Given the description of an element on the screen output the (x, y) to click on. 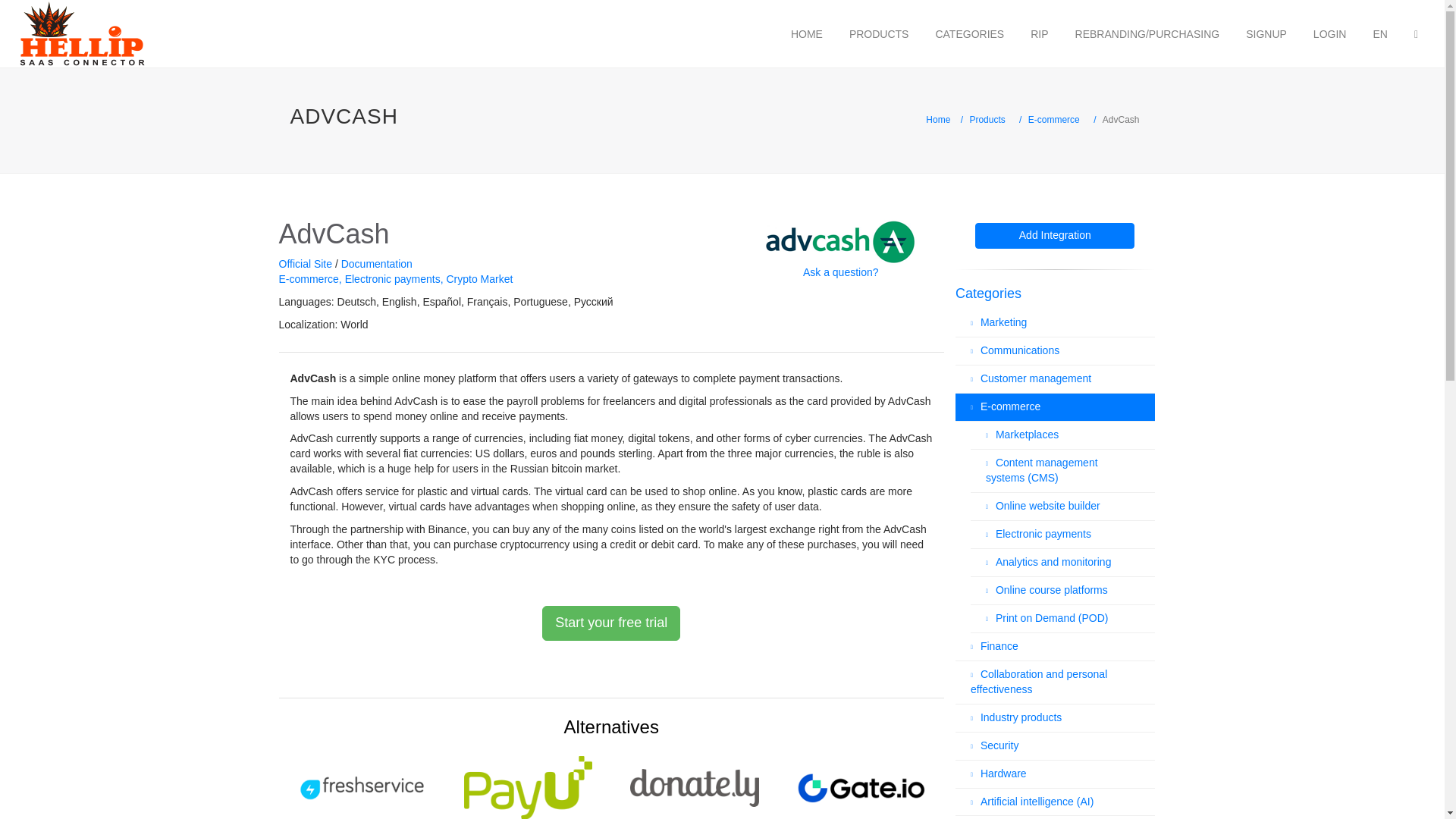
Ask a question? (841, 272)
Donately is. About, connectores, integrations (694, 784)
Crypto Market (478, 278)
CATEGORIES (968, 33)
Products (986, 119)
Documentation (376, 263)
SIGNUP (1266, 33)
PRODUCTS (879, 33)
Official Site (306, 263)
Electronic payments (394, 278)
